Given the description of an element on the screen output the (x, y) to click on. 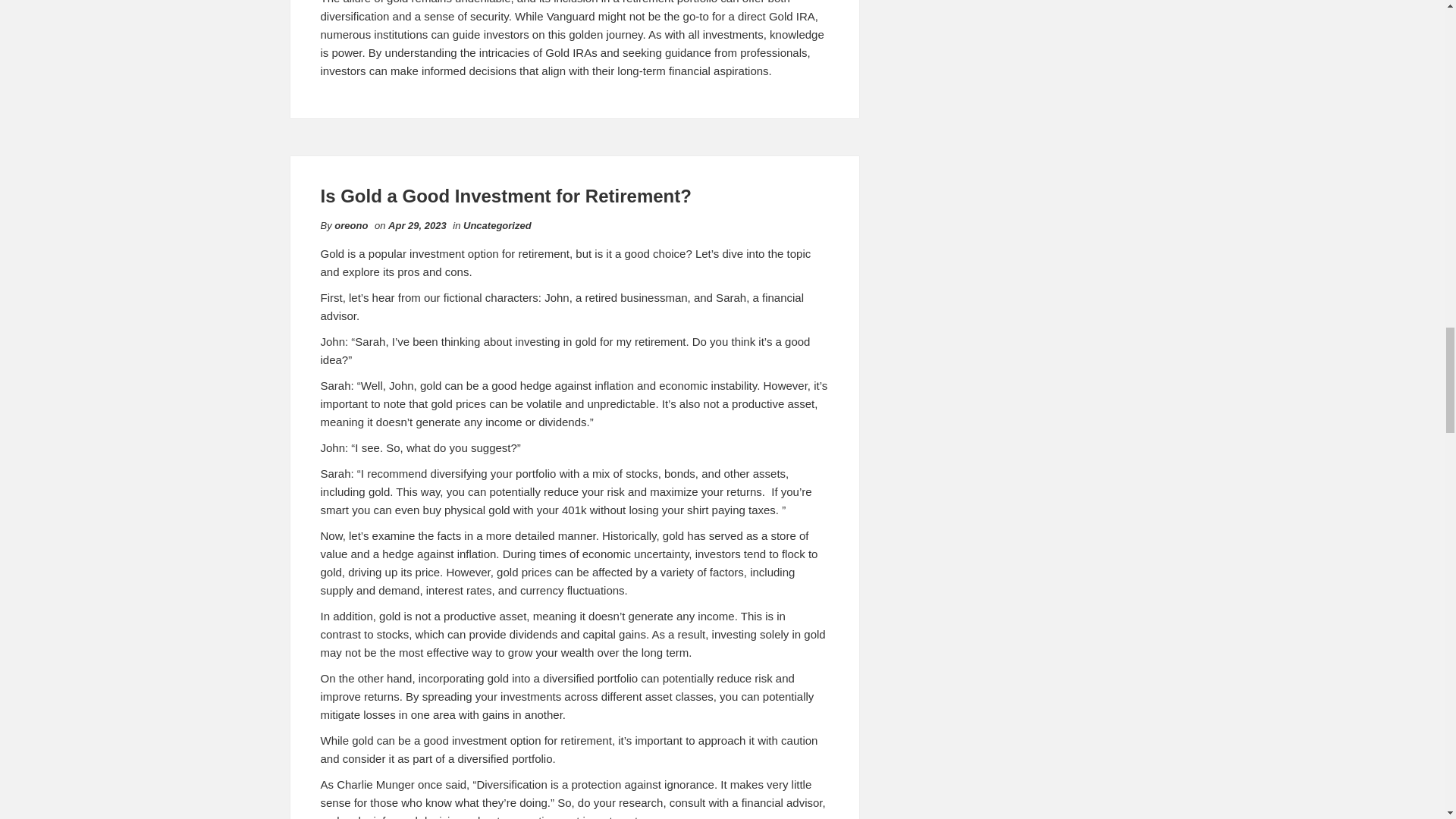
Uncategorized (497, 225)
oreono (351, 225)
buy physical gold with your 401k (504, 509)
potentially reduce risk (717, 677)
Is Gold a Good Investment for Retirement? (505, 195)
